Given the description of an element on the screen output the (x, y) to click on. 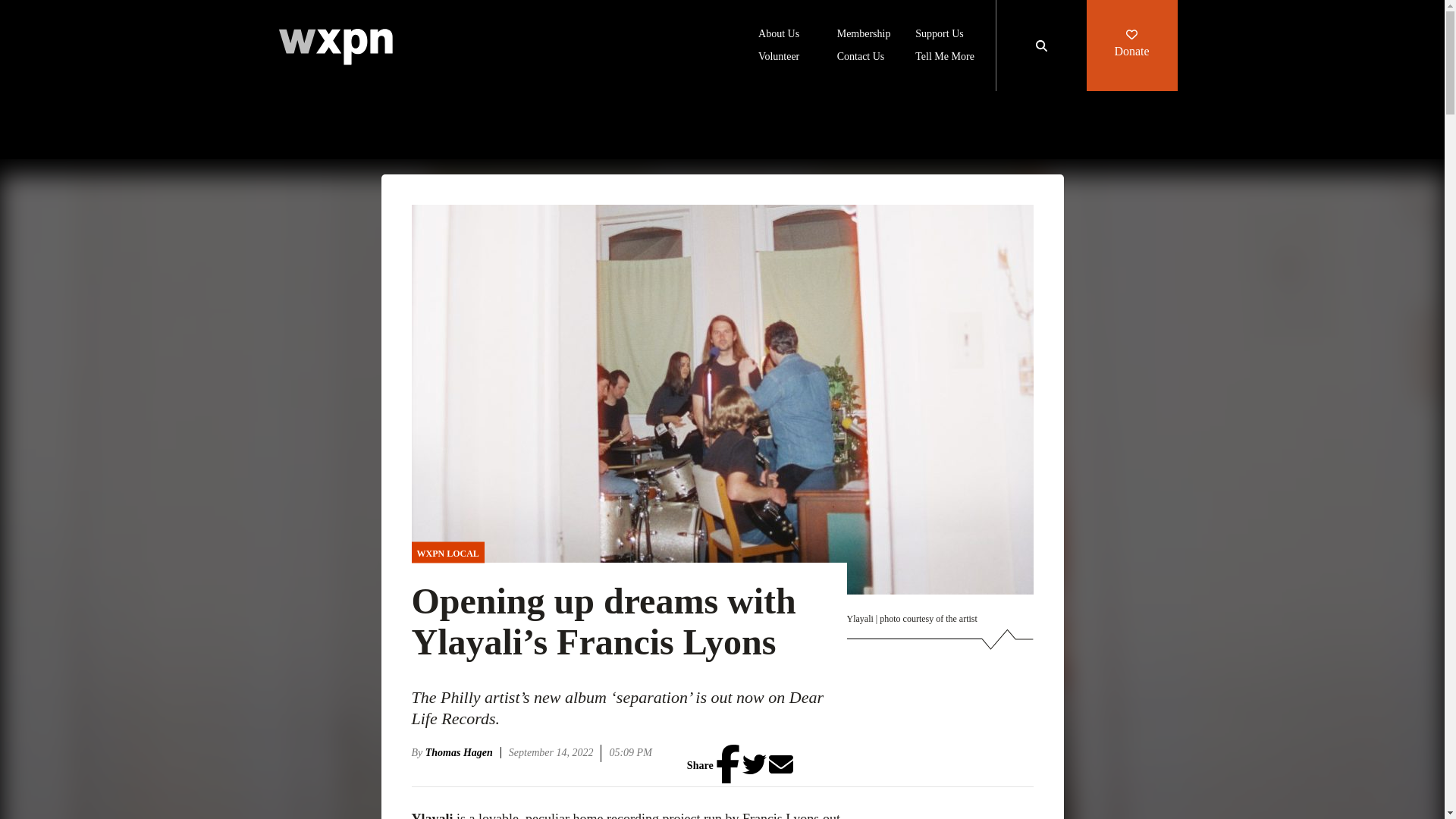
Donate (1131, 45)
Thomas Hagen (462, 752)
Volunteer (778, 57)
About Us (778, 35)
Membership (864, 35)
Tell Me More (944, 57)
Support Us (938, 35)
Contact Us (861, 57)
